Given the description of an element on the screen output the (x, y) to click on. 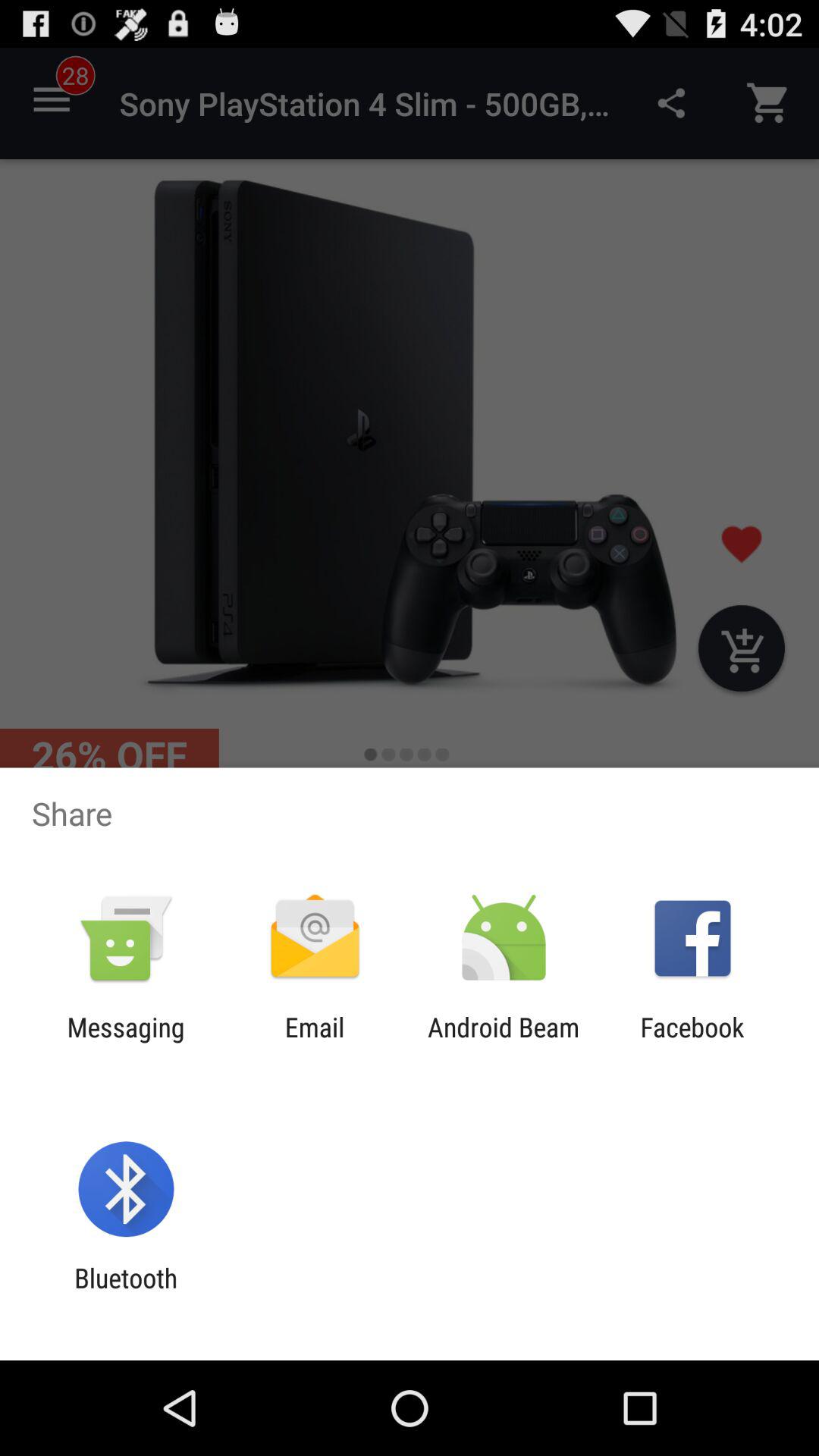
choose the bluetooth icon (125, 1293)
